Given the description of an element on the screen output the (x, y) to click on. 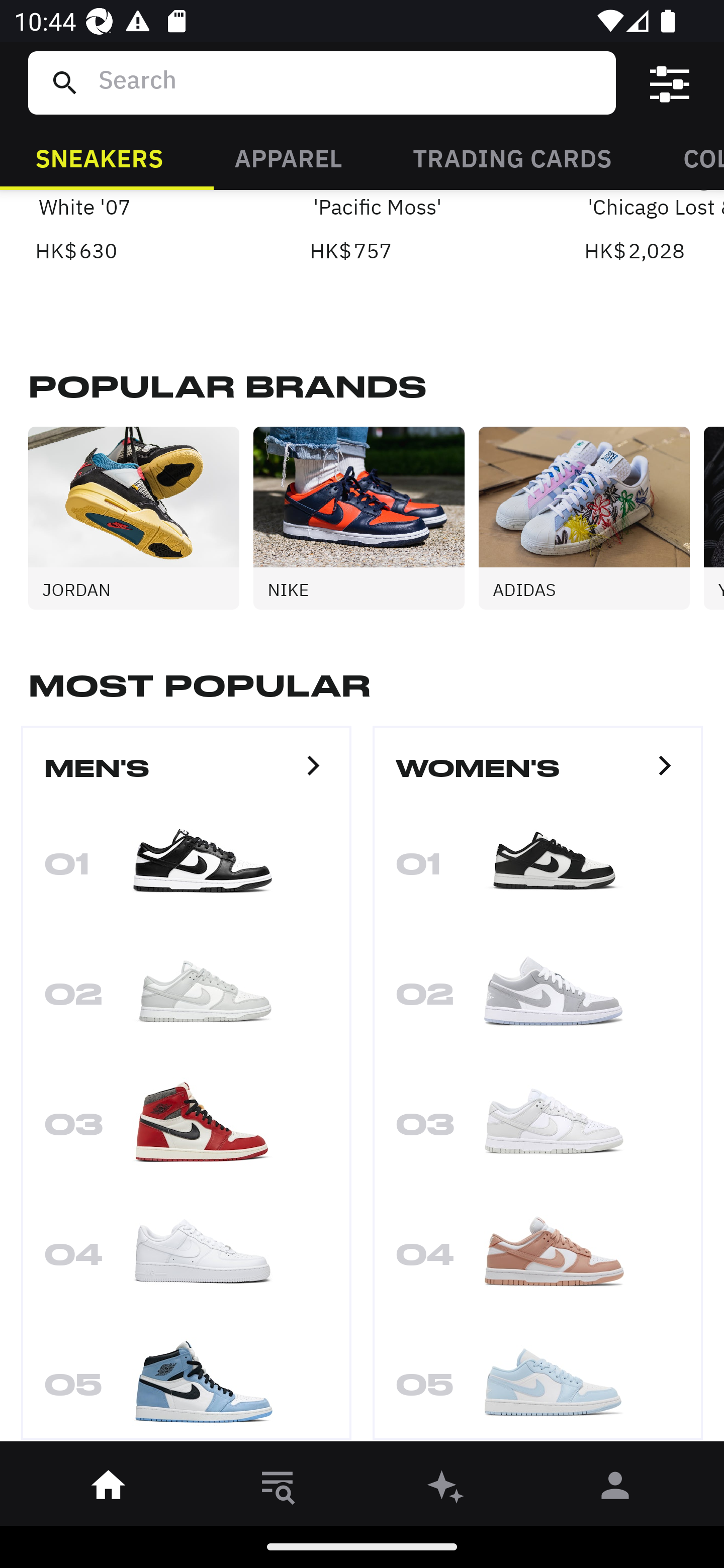
Search (349, 82)
 (669, 82)
SNEAKERS (99, 156)
APPAREL (287, 156)
TRADING CARDS (512, 156)
Nike Air Force 1 Low White '07 HK$ 630 (140, 228)
Nike Dunk Low 'Pacific Moss' HK$ 757 (414, 228)
JORDAN (140, 517)
NIKE (365, 517)
ADIDAS (590, 517)
MEN'S  (186, 776)
WOMEN'S  (538, 776)
01 (186, 869)
01 (538, 869)
02 (186, 999)
02 (538, 999)
03 (186, 1129)
03 (538, 1129)
04 (186, 1260)
04 (538, 1260)
05 (186, 1381)
05 (538, 1381)
󰋜 (108, 1488)
󱎸 (277, 1488)
󰫢 (446, 1488)
󰀄 (615, 1488)
